Given the description of an element on the screen output the (x, y) to click on. 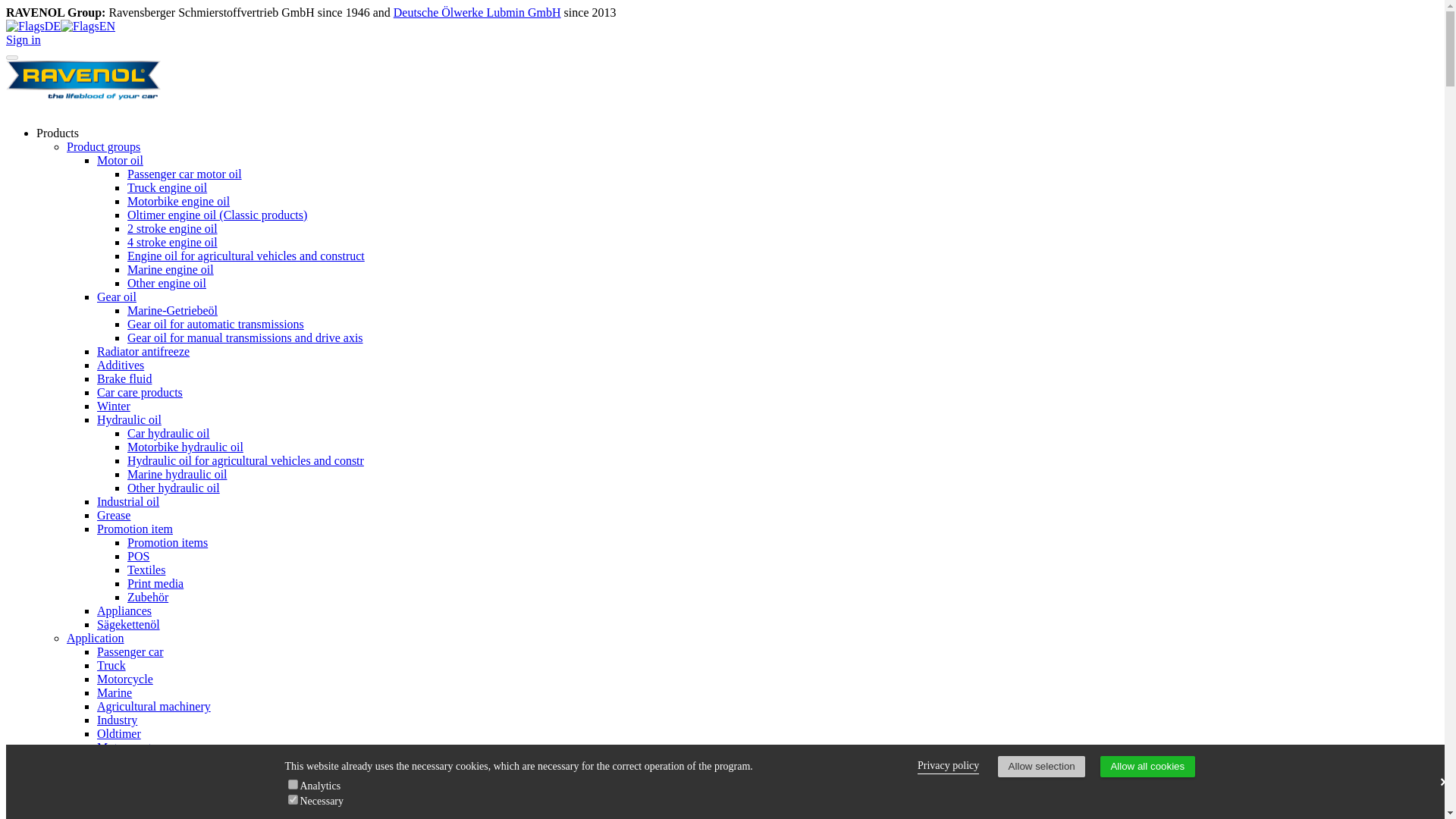
Marine engine oil (171, 269)
Gear oil (116, 296)
Car care products (140, 391)
Industrial oil (127, 501)
Motorbike engine oil (179, 201)
2 stroke engine oil (172, 228)
2 stroke engine oil (172, 228)
Passenger car motor oil (184, 173)
Gear oil for automatic transmissions (216, 323)
Motorbike engine oil (179, 201)
